Given the description of an element on the screen output the (x, y) to click on. 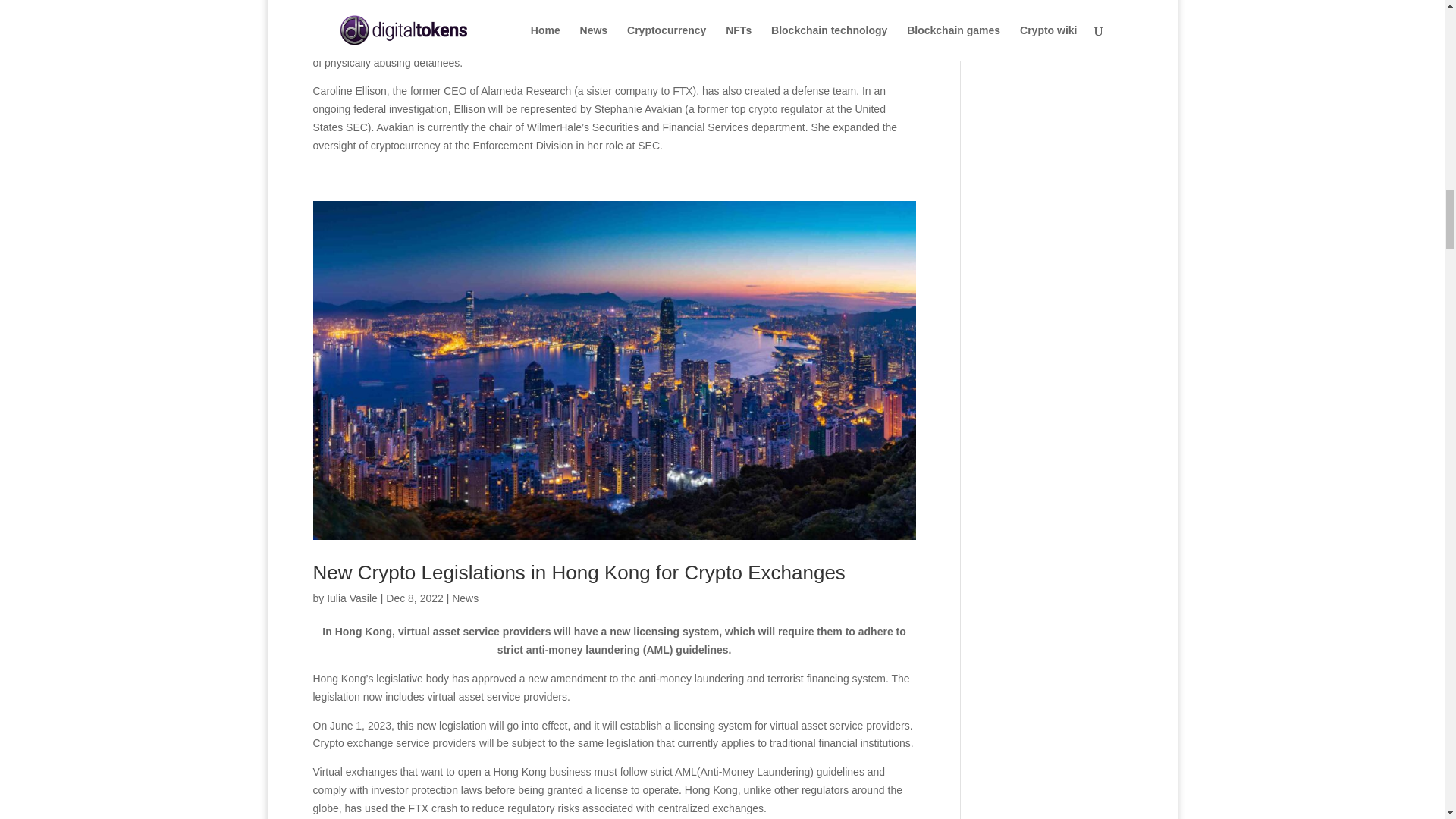
News (465, 598)
New Crypto Legislations in Hong Kong for Crypto Exchanges (578, 572)
Posts by Iulia Vasile (351, 598)
Iulia Vasile (351, 598)
